Given the description of an element on the screen output the (x, y) to click on. 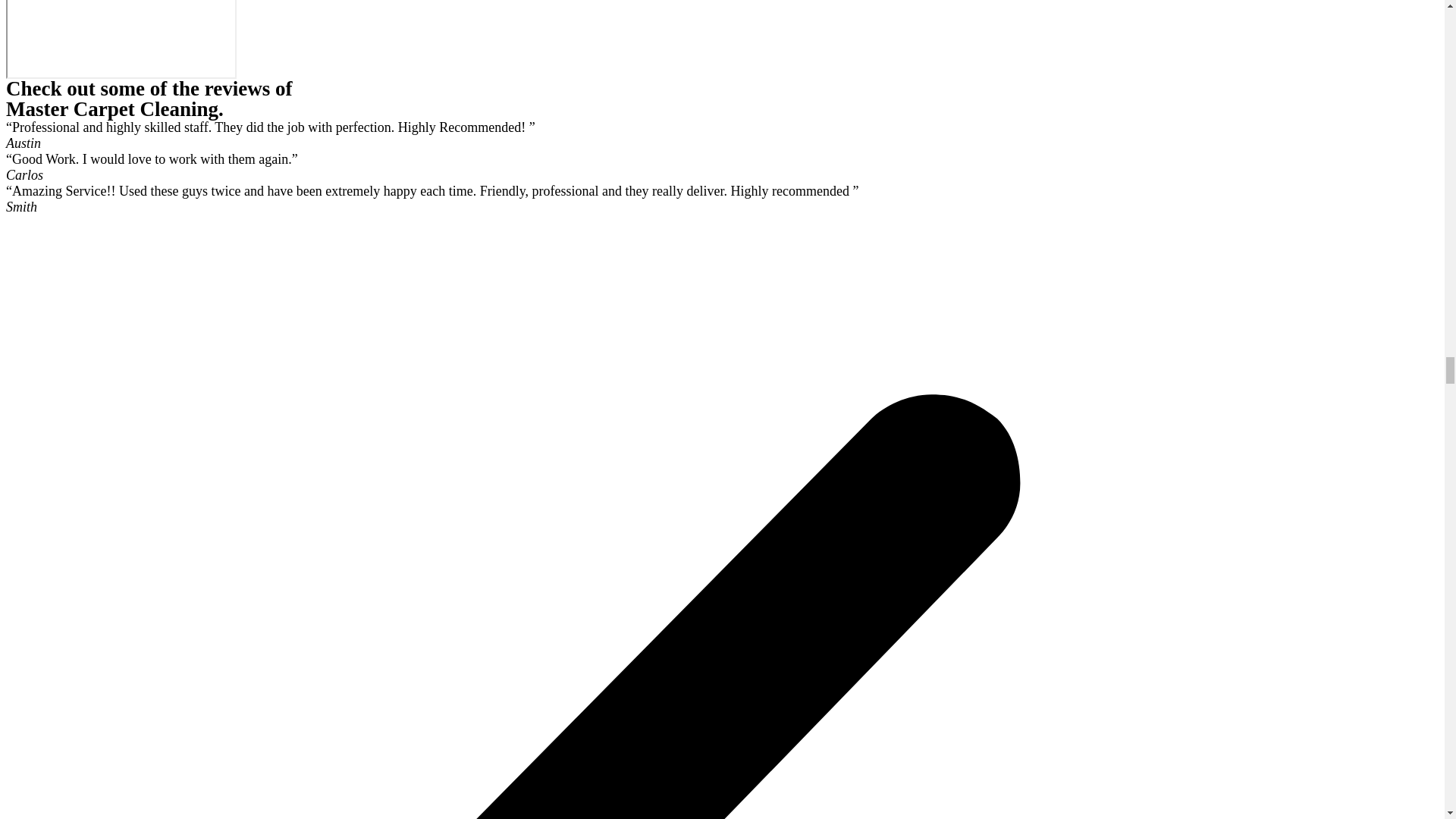
McMahons Point (120, 39)
